Given the description of an element on the screen output the (x, y) to click on. 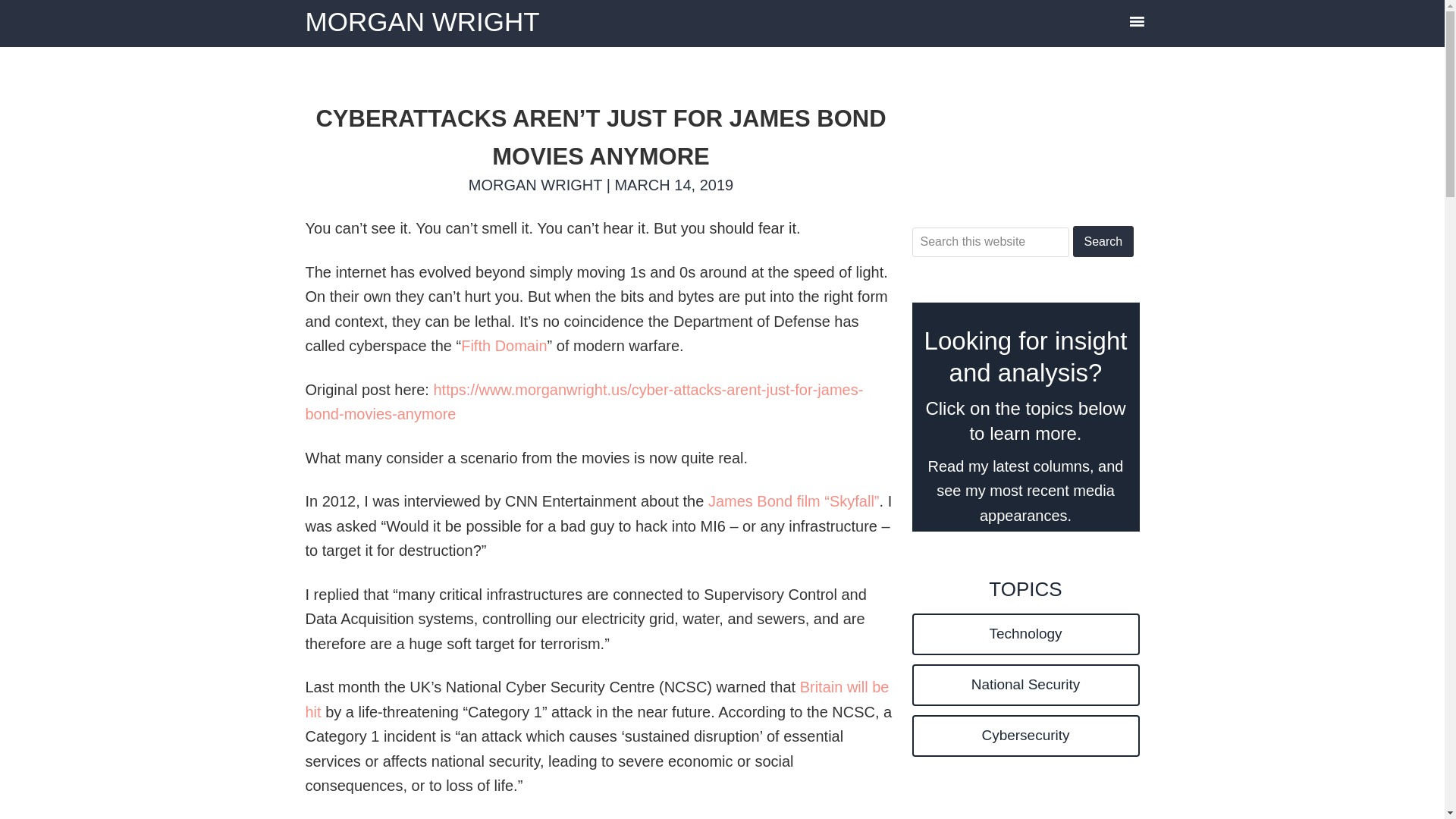
Britain will be hit (596, 699)
Cybersecurity (1024, 735)
Search (1102, 241)
Search (1102, 241)
Technology (1024, 634)
National Security (1024, 684)
MORGAN WRIGHT (421, 21)
Fifth Domain (504, 345)
Search (1102, 241)
